Given the description of an element on the screen output the (x, y) to click on. 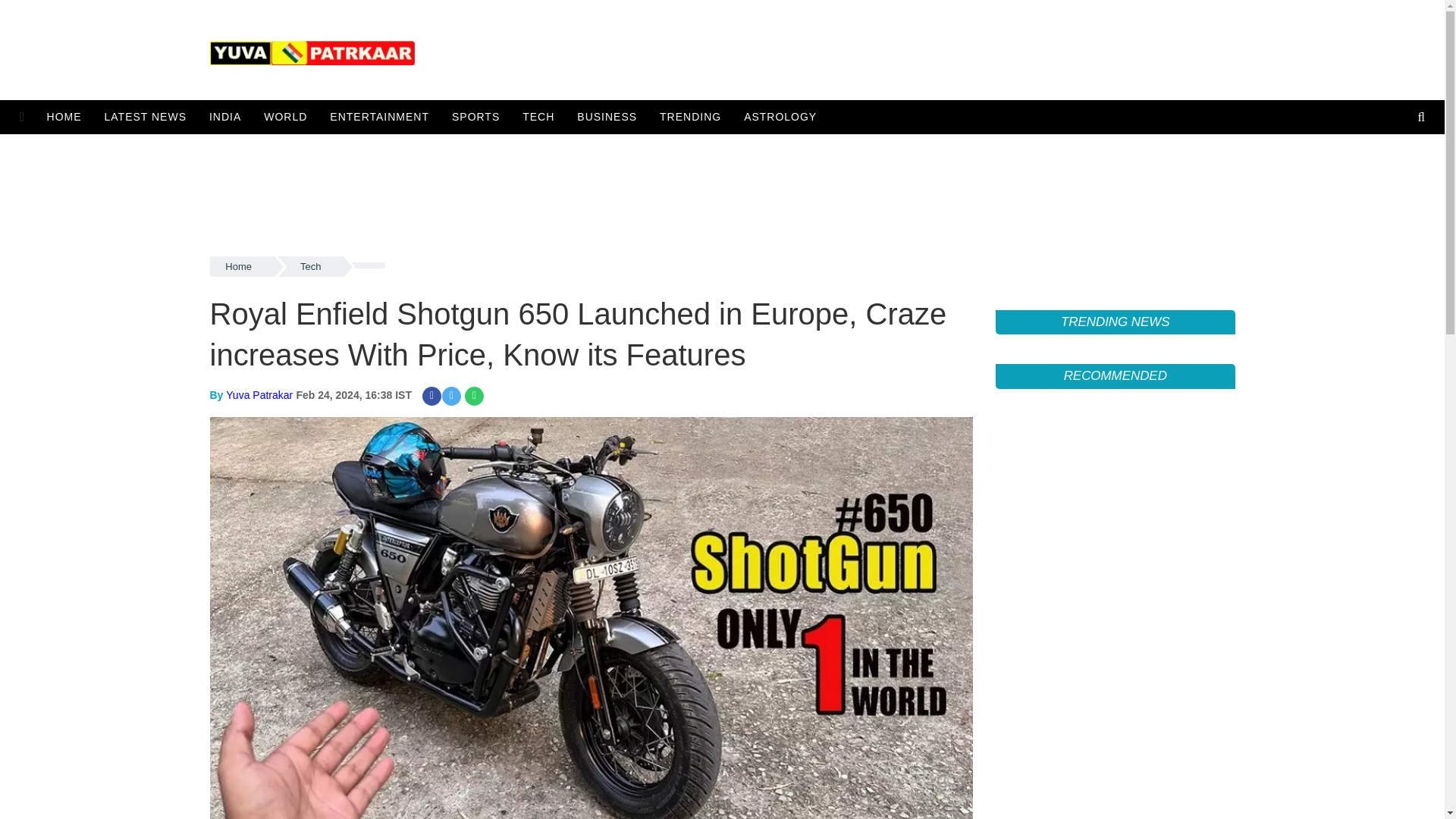
WORLD (284, 116)
Home (241, 266)
Tech (310, 266)
3rd party ad content (721, 191)
TECH (538, 116)
TRENDING (689, 116)
ASTROLOGY (780, 116)
LATEST NEWS (145, 116)
SPORTS (476, 116)
HOME (68, 116)
